Given the description of an element on the screen output the (x, y) to click on. 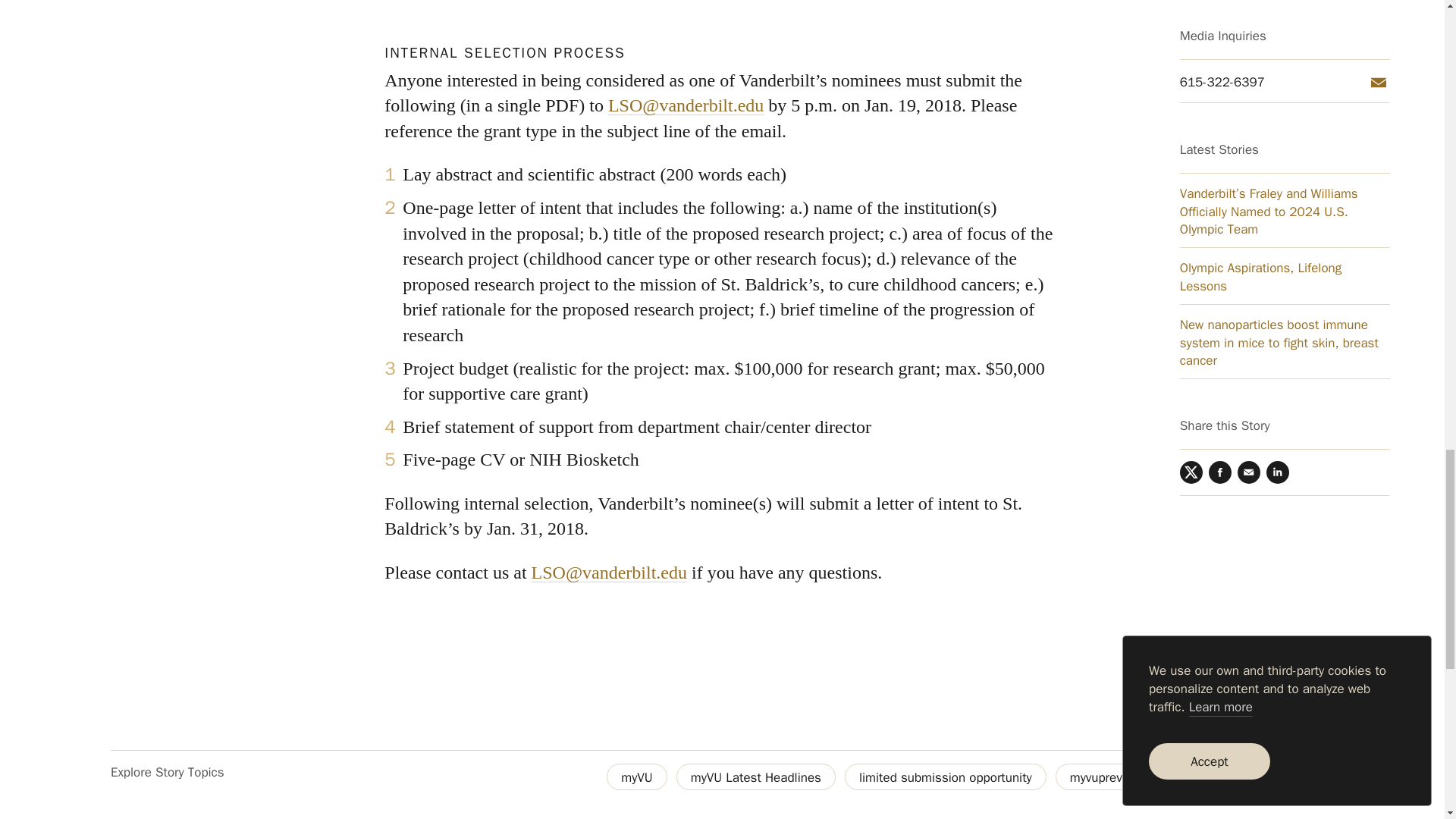
limited submission opportunity (945, 776)
myVU (636, 776)
myVU Latest Headlines (756, 776)
St. Baldrick's Foundation (1248, 776)
myvupreview (1104, 776)
